Given the description of an element on the screen output the (x, y) to click on. 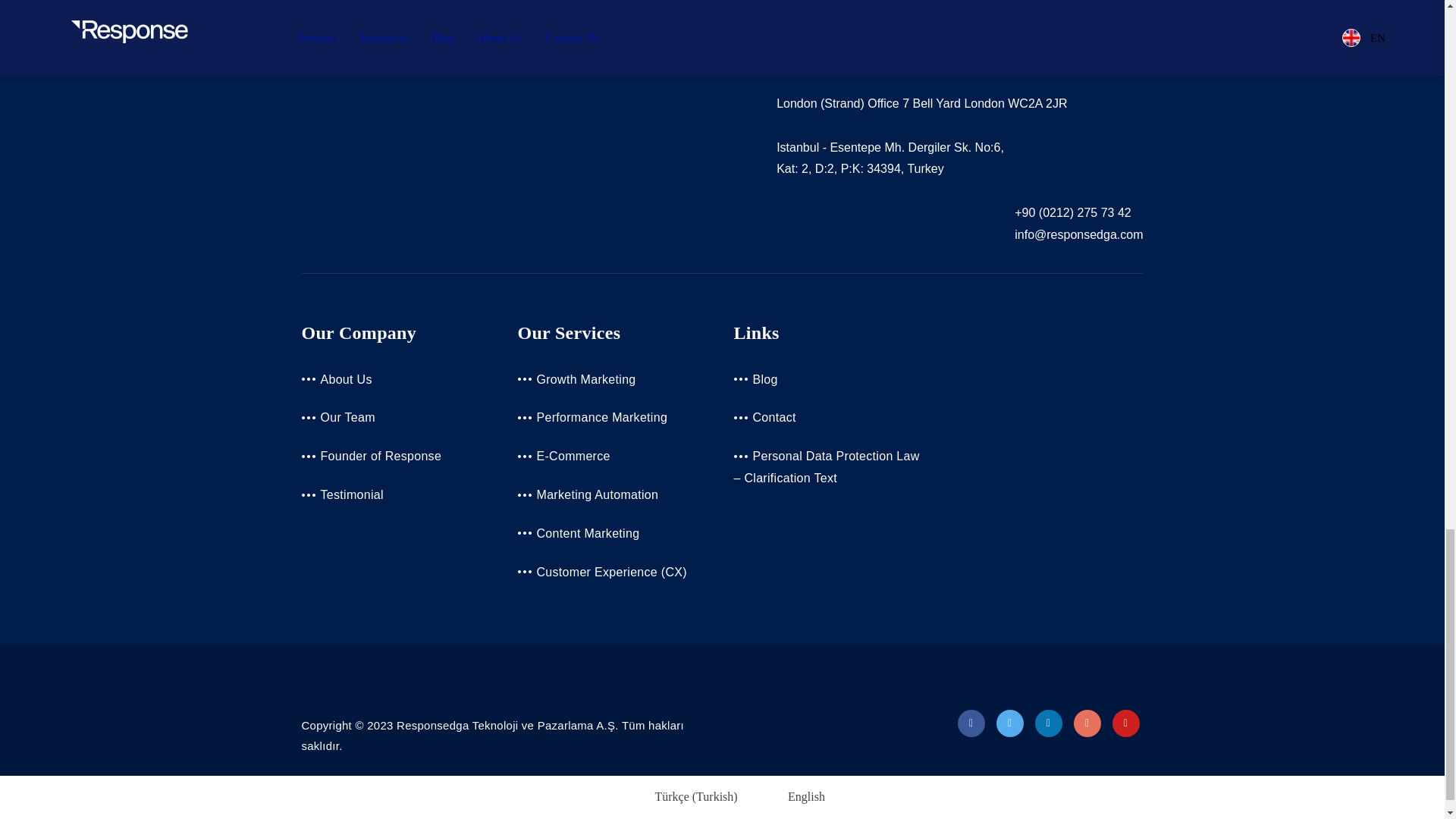
Content Marketing (577, 533)
About Us (336, 379)
E-Commerce (563, 455)
Performance Marketing (591, 417)
Marketing Automation (587, 494)
Contact (764, 417)
Growth Marketing (575, 379)
Founder of Response (371, 455)
Blog (755, 379)
Testimonial (342, 494)
